Given the description of an element on the screen output the (x, y) to click on. 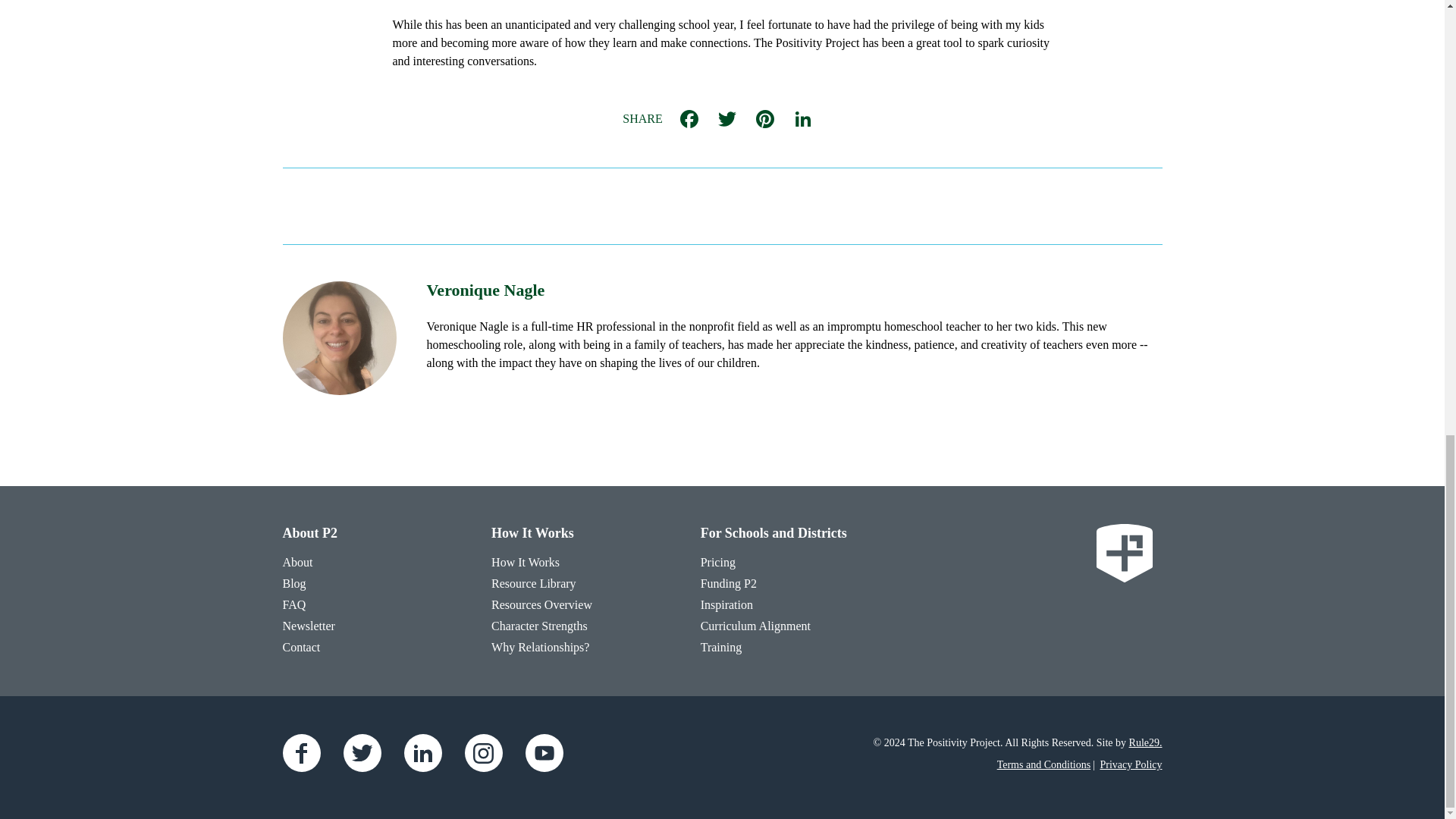
Pinterest (764, 119)
LinkedIn (802, 119)
Twitter (726, 119)
Facebook (689, 119)
